Given the description of an element on the screen output the (x, y) to click on. 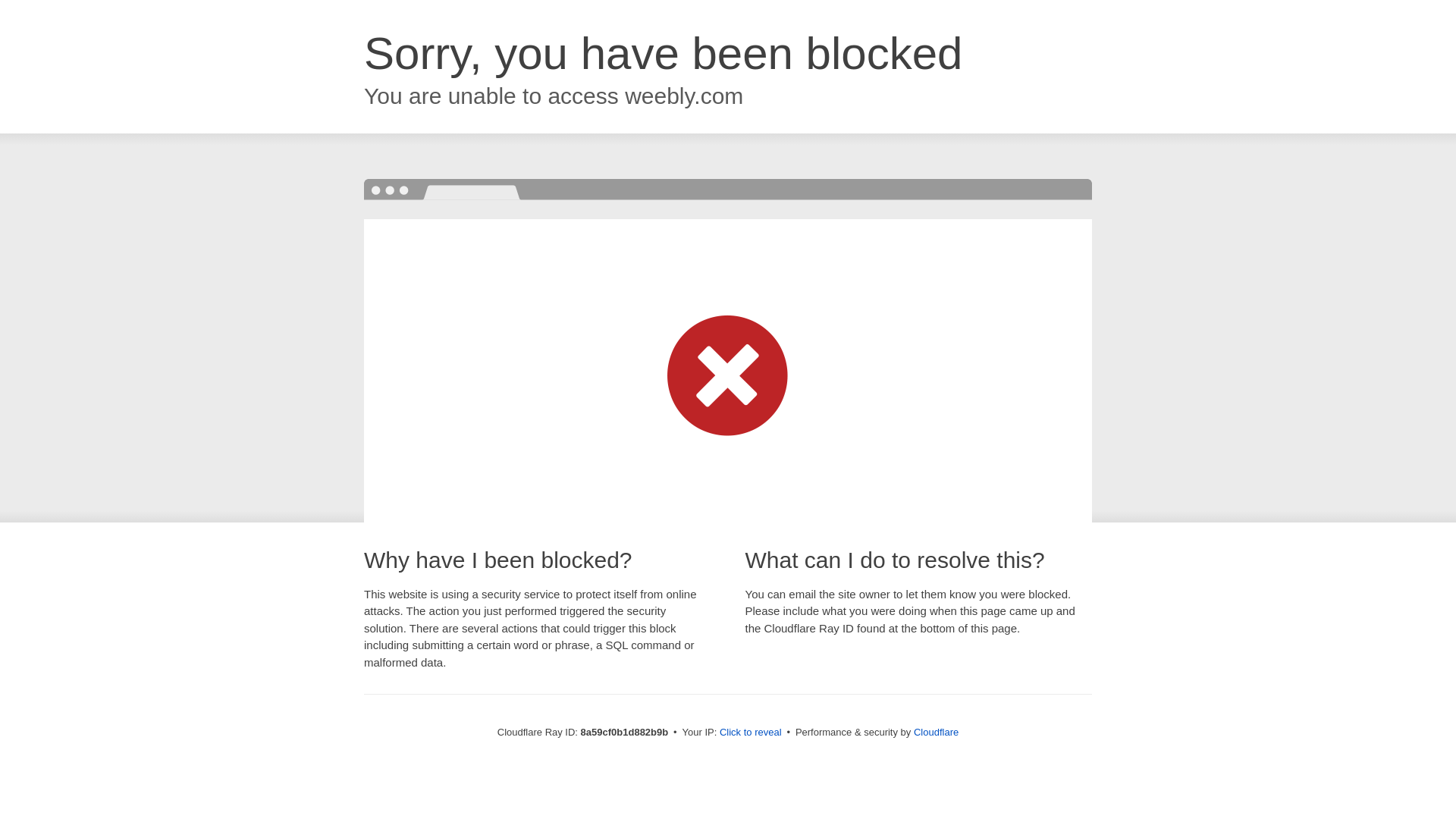
Cloudflare (936, 731)
Click to reveal (750, 732)
